Given the description of an element on the screen output the (x, y) to click on. 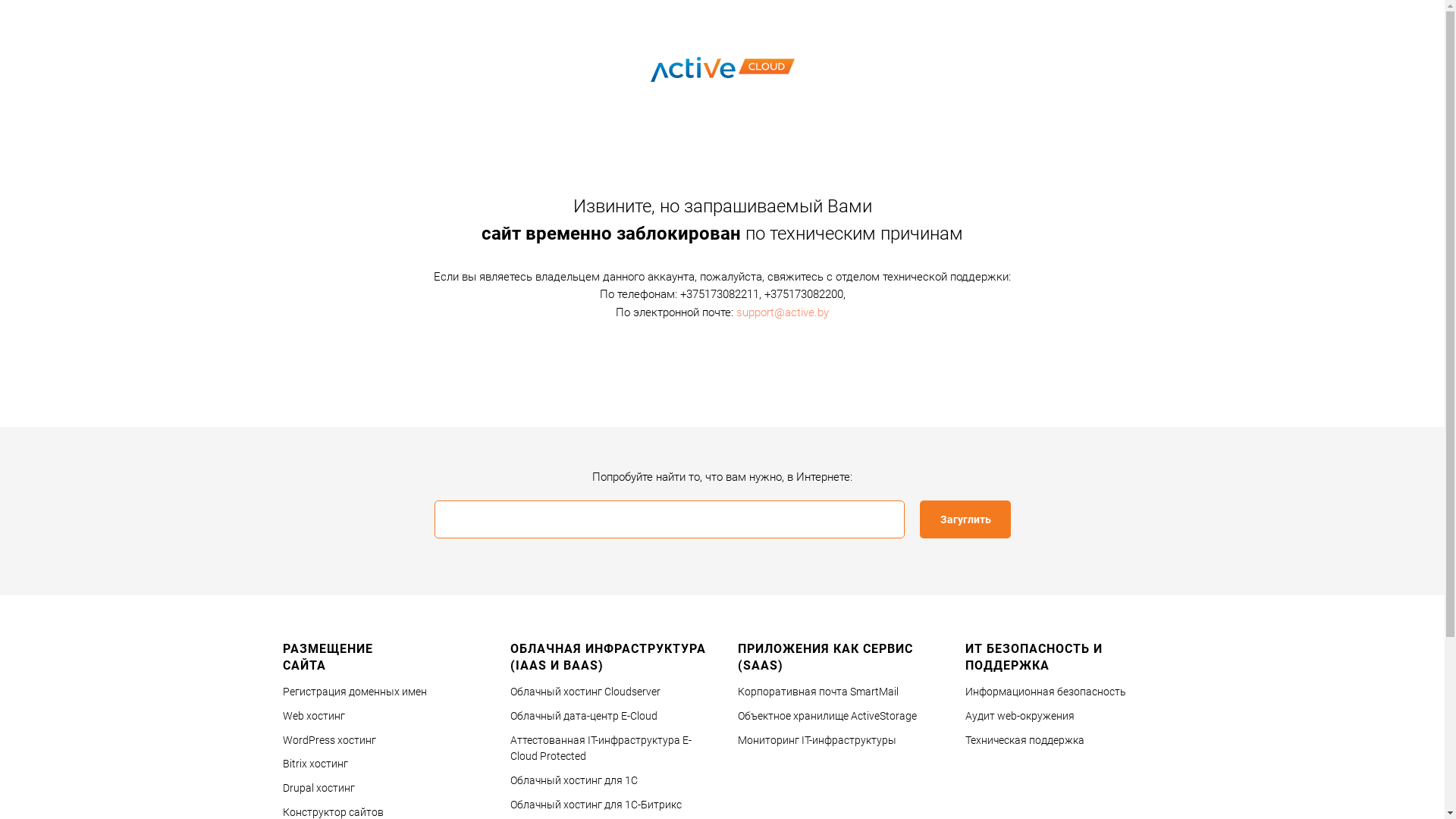
+375173082211 Element type: text (718, 294)
+375173082200 Element type: text (803, 294)
support@active.by Element type: text (782, 311)
